Given the description of an element on the screen output the (x, y) to click on. 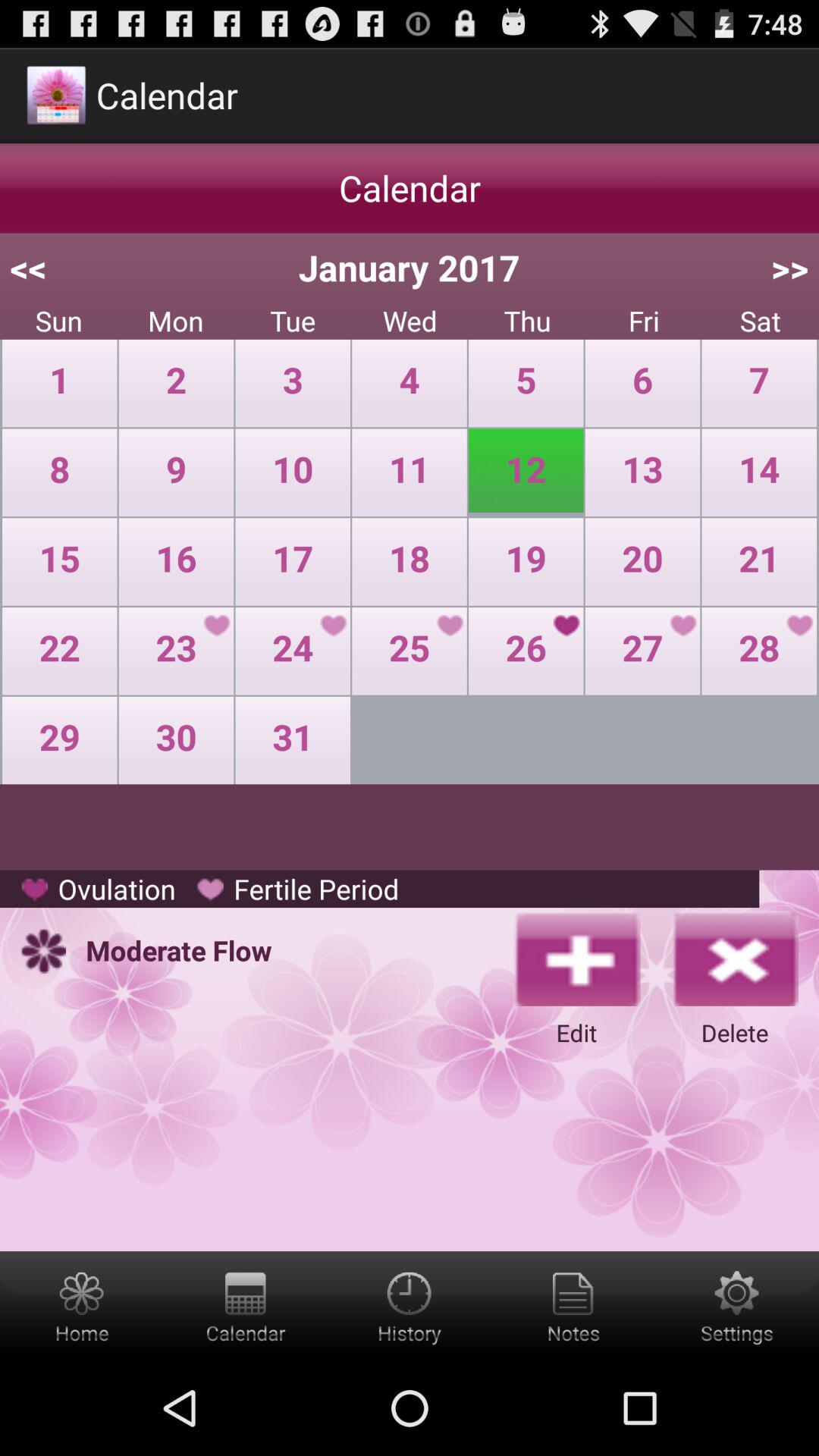
go to setting (737, 1305)
